Given the description of an element on the screen output the (x, y) to click on. 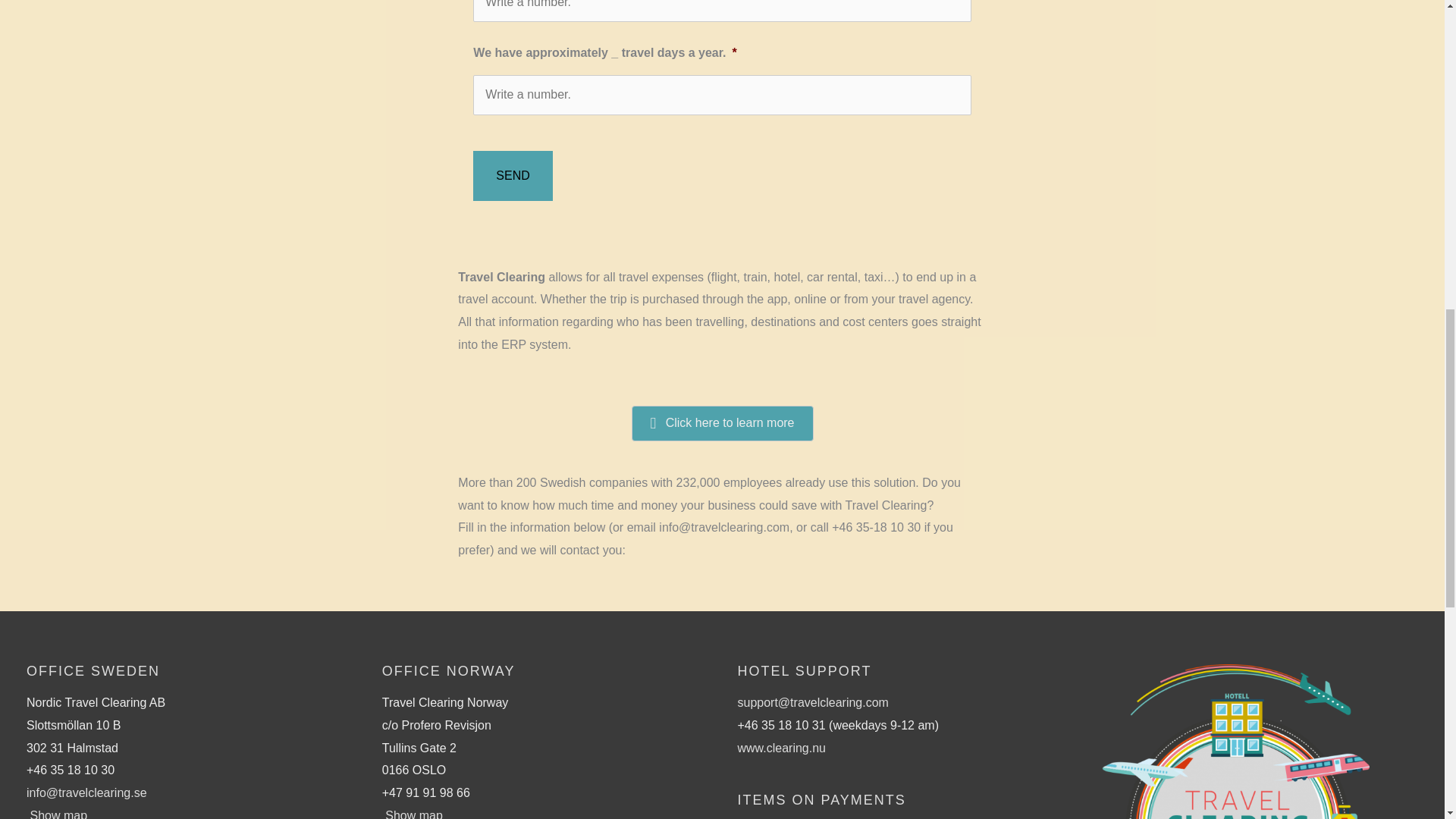
Click here to learn more (722, 423)
Show map (58, 814)
SEND (512, 175)
SEND (512, 175)
www.clearing.nu (780, 748)
Show map (413, 814)
